Given the description of an element on the screen output the (x, y) to click on. 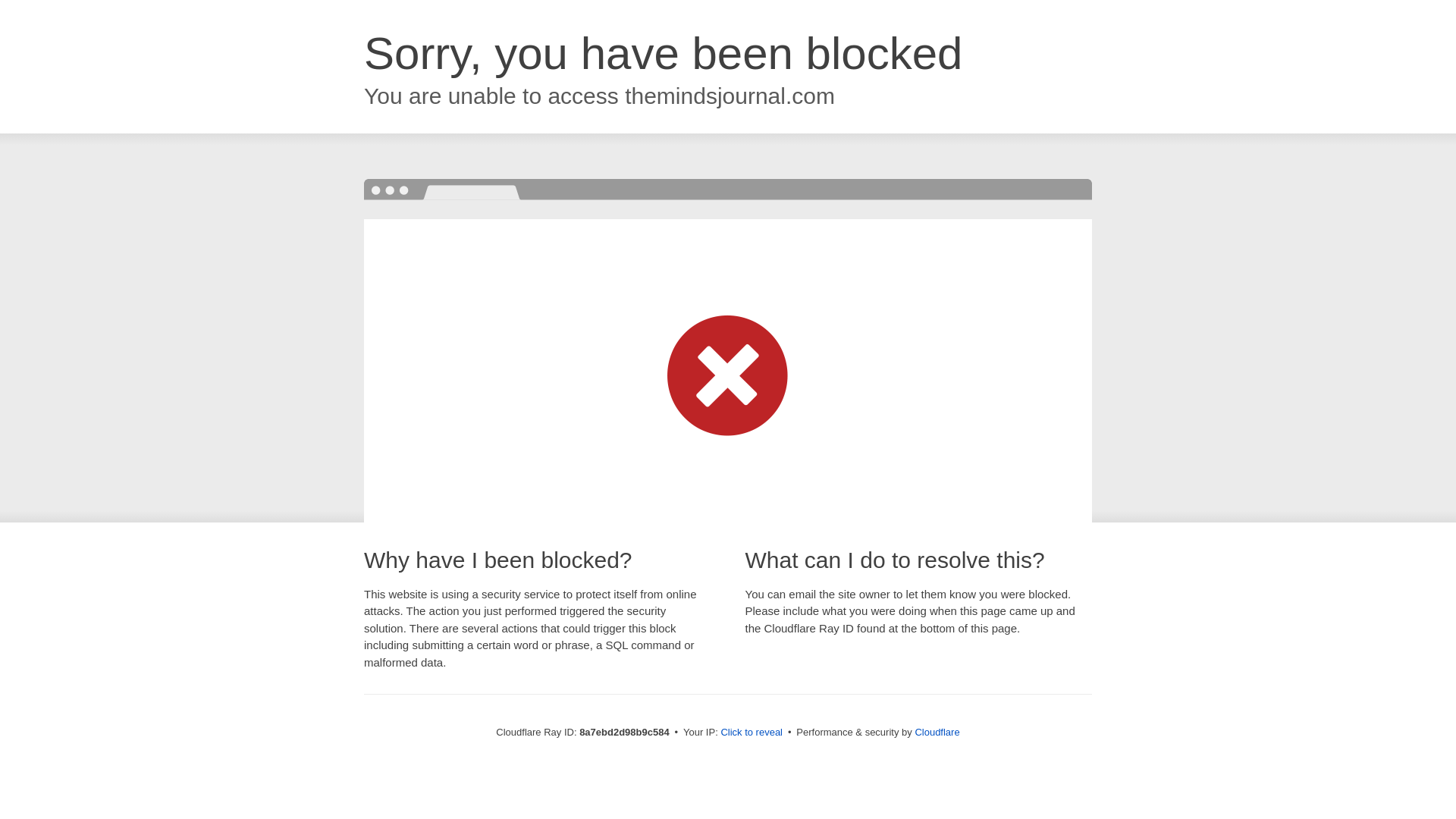
Cloudflare (936, 731)
Click to reveal (751, 732)
